Given the description of an element on the screen output the (x, y) to click on. 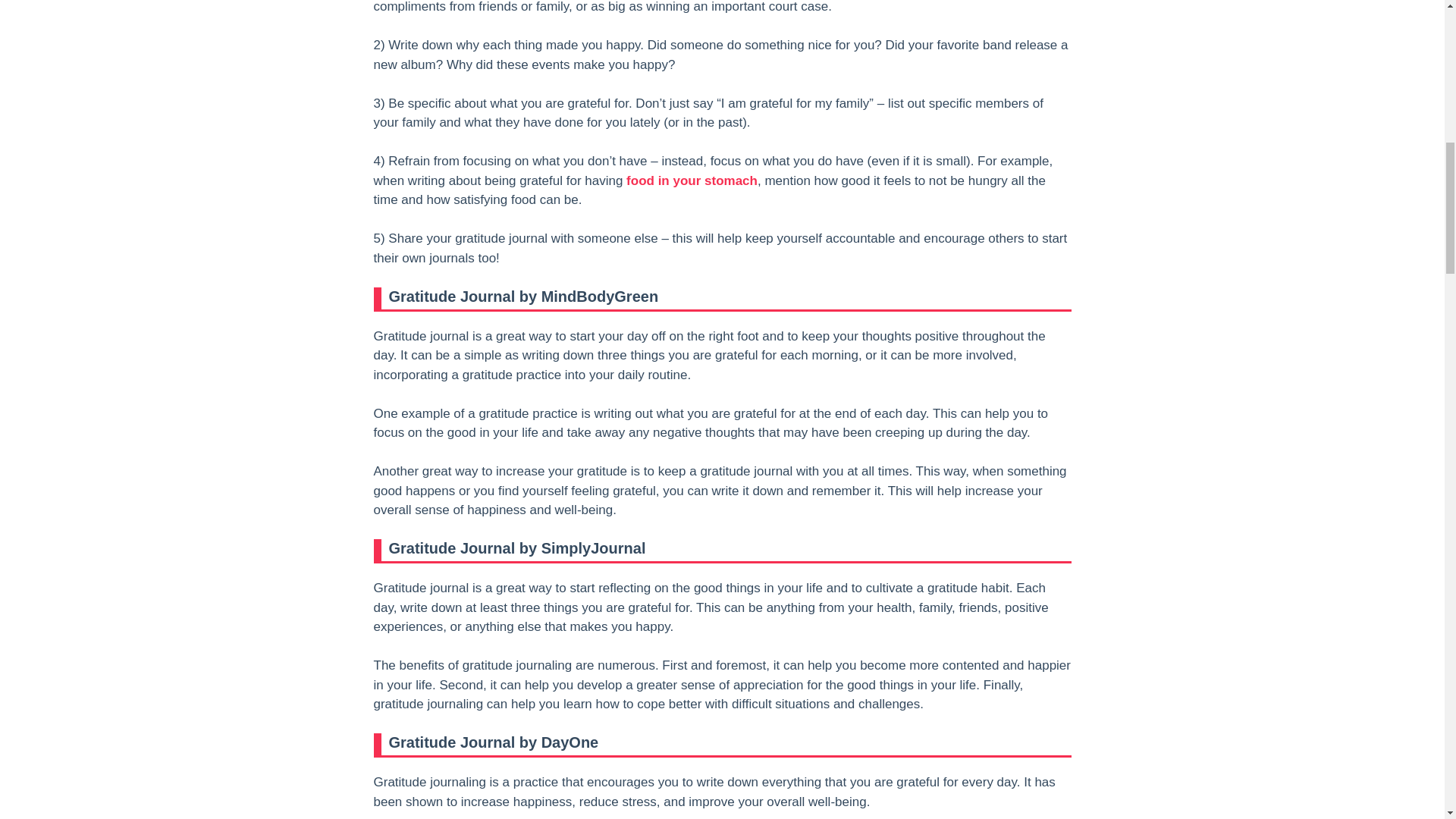
food in your stomach (691, 179)
